Given the description of an element on the screen output the (x, y) to click on. 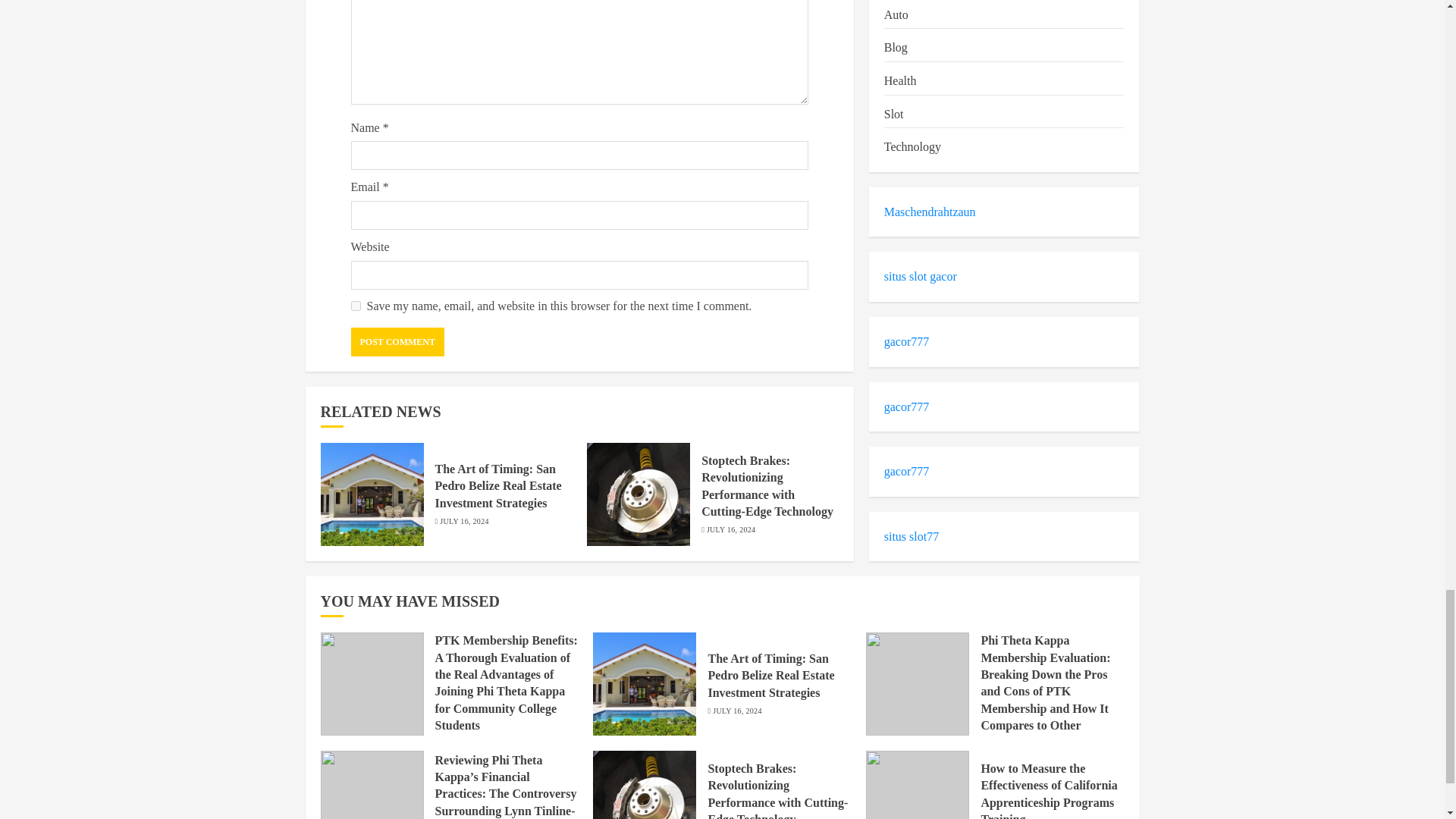
Post Comment (397, 341)
yes (354, 306)
Post Comment (397, 341)
JULY 16, 2024 (463, 521)
JULY 16, 2024 (730, 529)
